Given the description of an element on the screen output the (x, y) to click on. 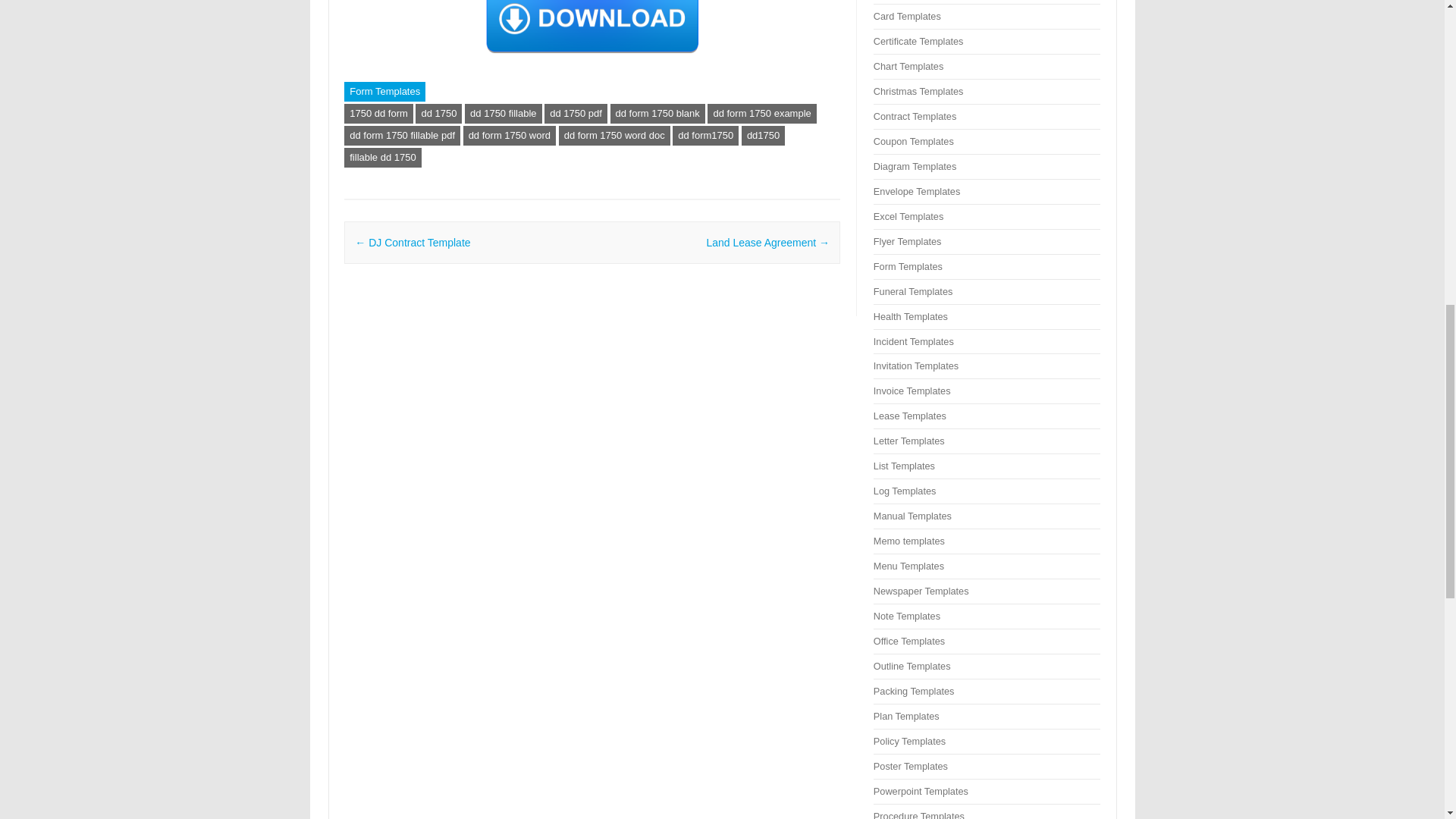
dd form 1750 word (509, 135)
dd form 1750 fillable pdf (401, 135)
dd1750 (762, 135)
dd 1750 pdf (575, 113)
dd form1750 (705, 135)
dd 1750 (437, 113)
dd form 1750 blank (657, 113)
fillable dd 1750 (381, 157)
dd form 1750 example (761, 113)
dd form 1750 word doc (614, 135)
